Given the description of an element on the screen output the (x, y) to click on. 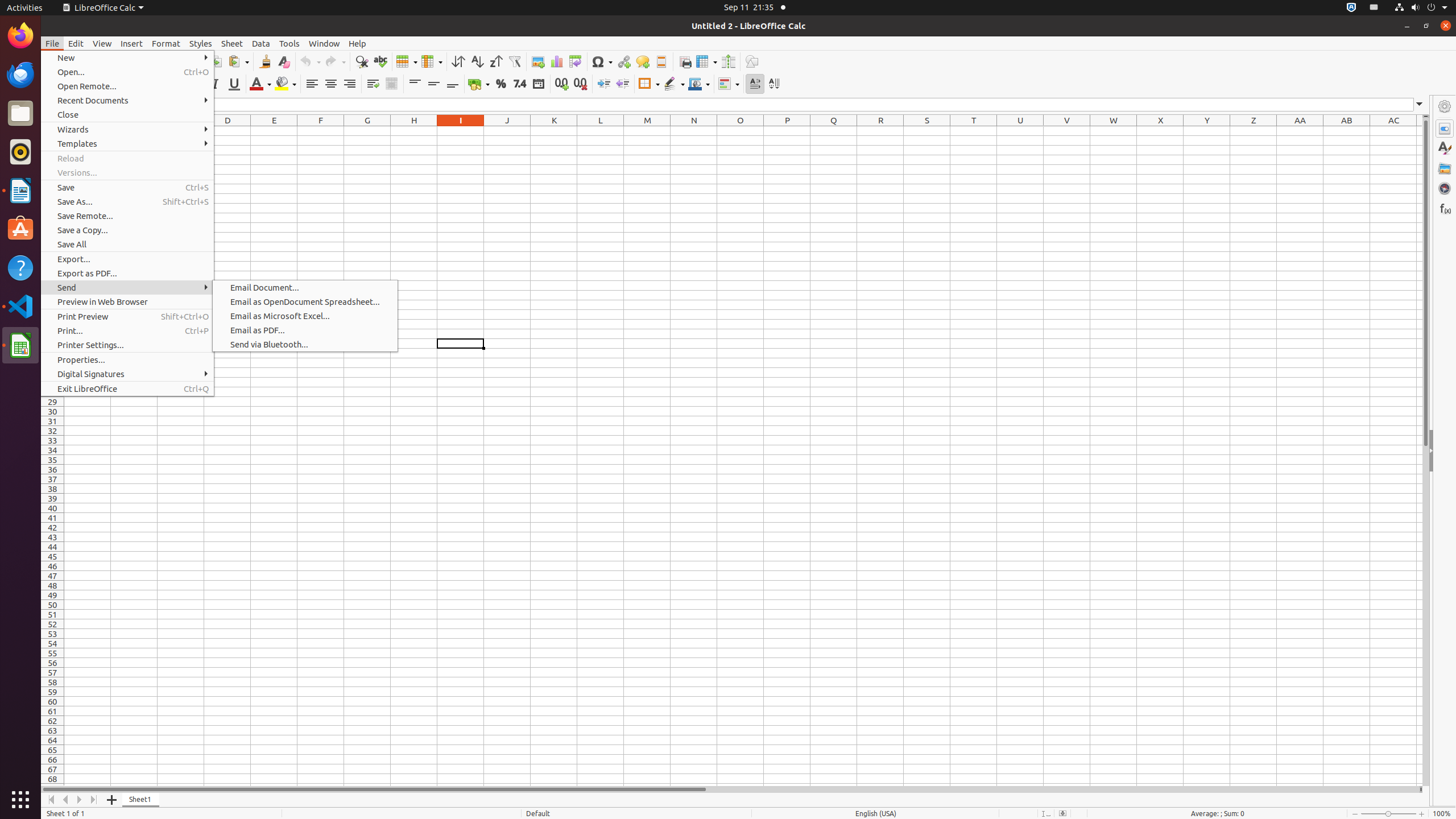
Underline Element type: push-button (233, 83)
Save All Element type: menu-item (126, 244)
Currency Element type: push-button (478, 83)
Headers and Footers Element type: push-button (660, 61)
Text direction from top to bottom Element type: toggle-button (773, 83)
